Given the description of an element on the screen output the (x, y) to click on. 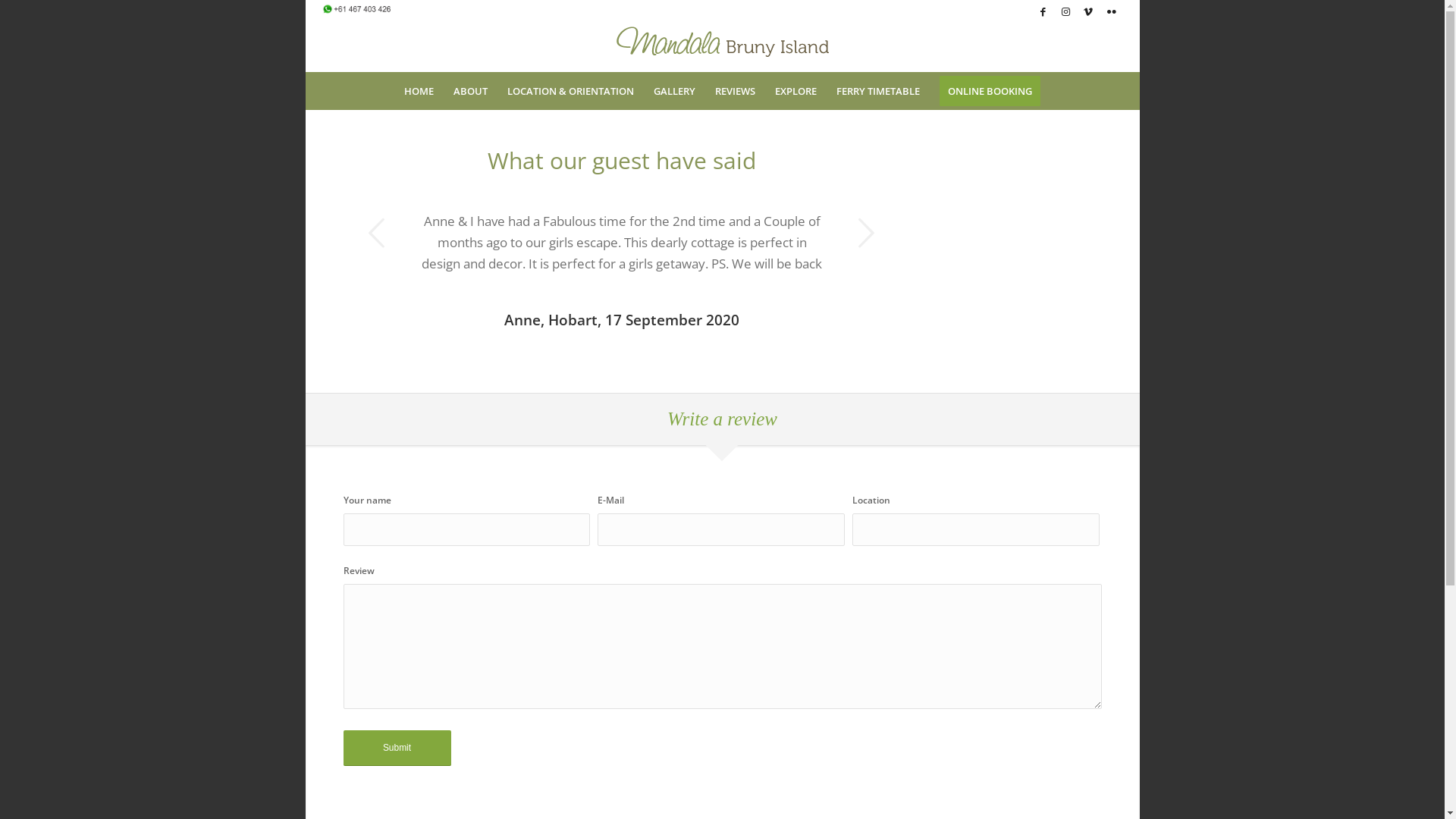
Facebook Element type: hover (1042, 11)
Flickr Element type: hover (1110, 11)
ABOUT Element type: text (470, 90)
GALLERY Element type: text (674, 90)
Vimeo Element type: hover (1087, 11)
Instagram Element type: hover (1065, 11)
LOCATION & ORIENTATION Element type: text (570, 90)
Next Element type: text (865, 232)
EXPLORE Element type: text (795, 90)
FERRY TIMETABLE Element type: text (877, 90)
Submit Element type: text (396, 748)
Previous Element type: text (377, 232)
logo Element type: hover (722, 41)
HOME Element type: text (418, 90)
ONLINE BOOKING Element type: text (989, 90)
REVIEWS Element type: text (735, 90)
